Given the description of an element on the screen output the (x, y) to click on. 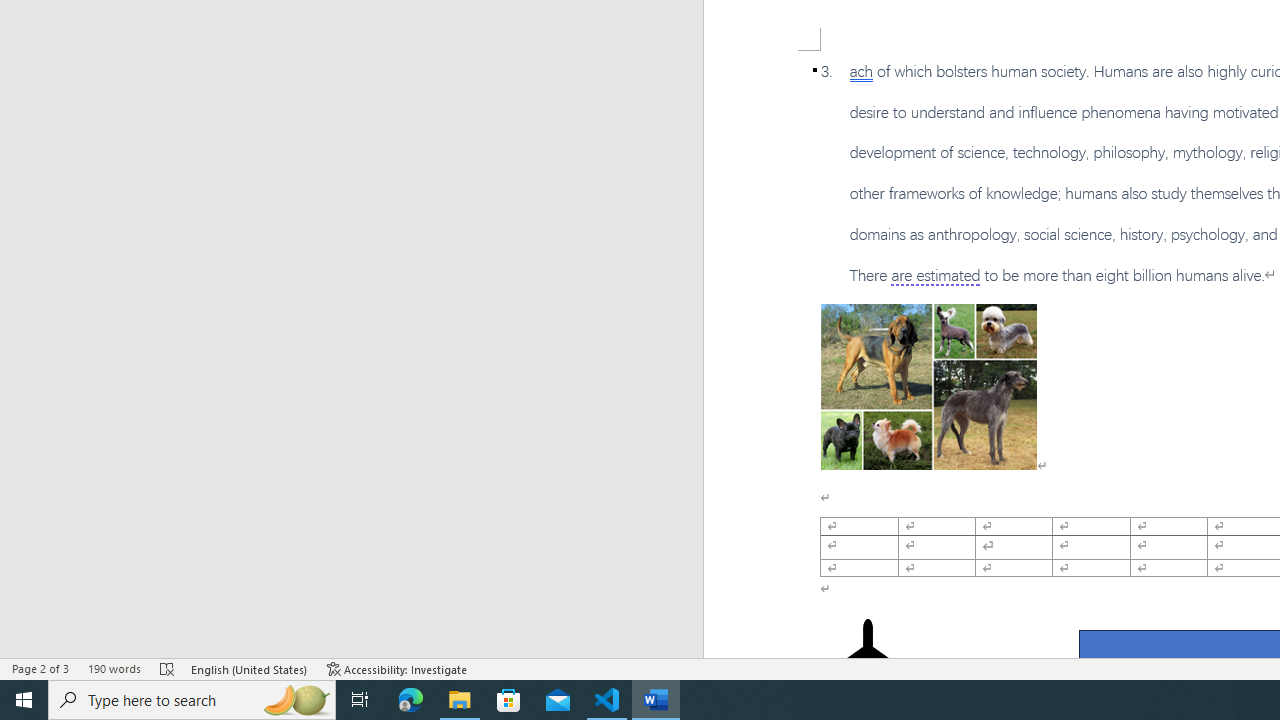
Airplane with solid fill (867, 657)
Language English (United States) (250, 668)
Spelling and Grammar Check Errors (168, 668)
Page Number Page 2 of 3 (39, 668)
Accessibility Checker Accessibility: Investigate (397, 668)
Morphological variation in six dogs (928, 386)
